Given the description of an element on the screen output the (x, y) to click on. 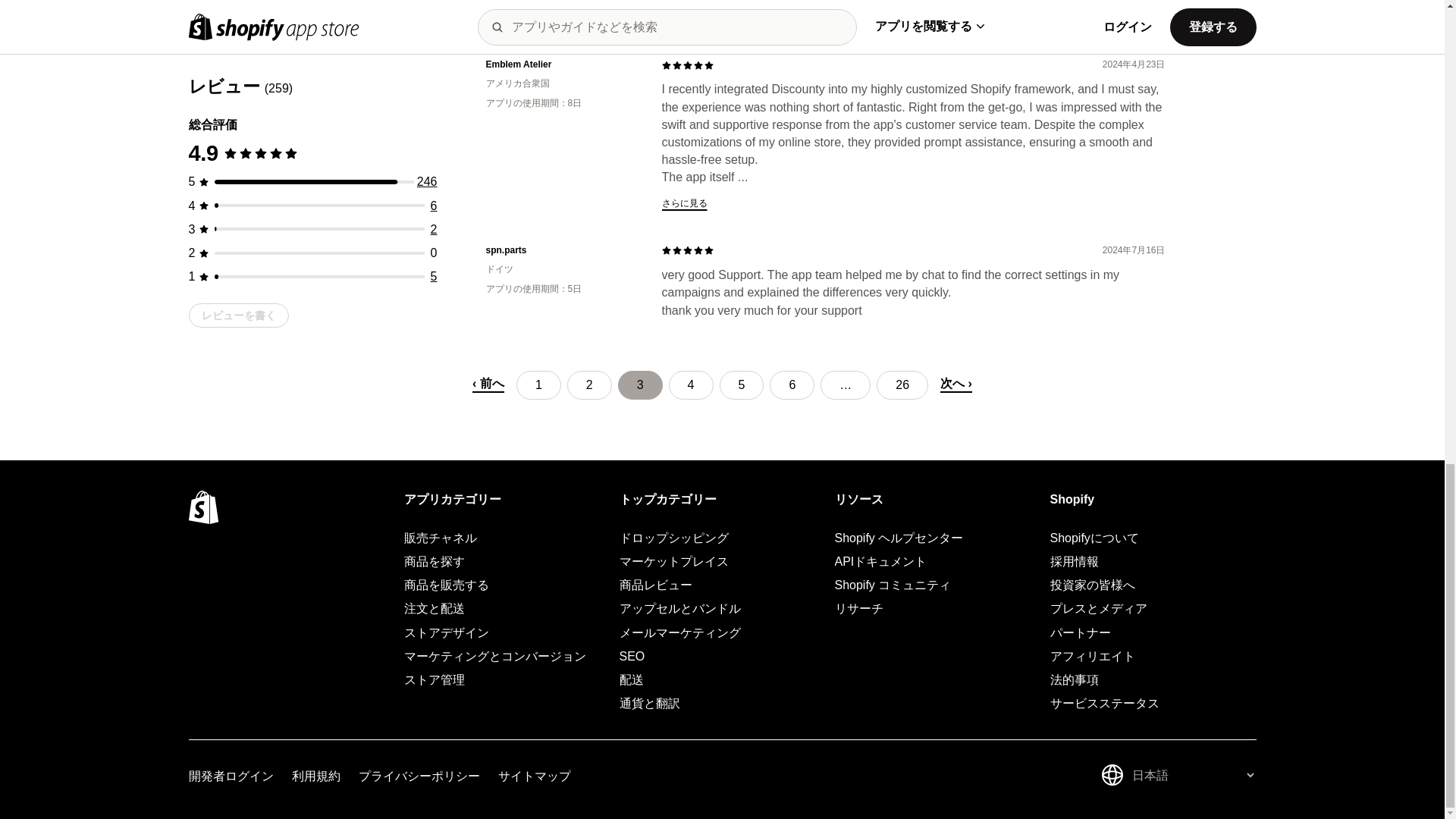
spn.parts (560, 250)
Emblem Atelier (560, 64)
